Given the description of an element on the screen output the (x, y) to click on. 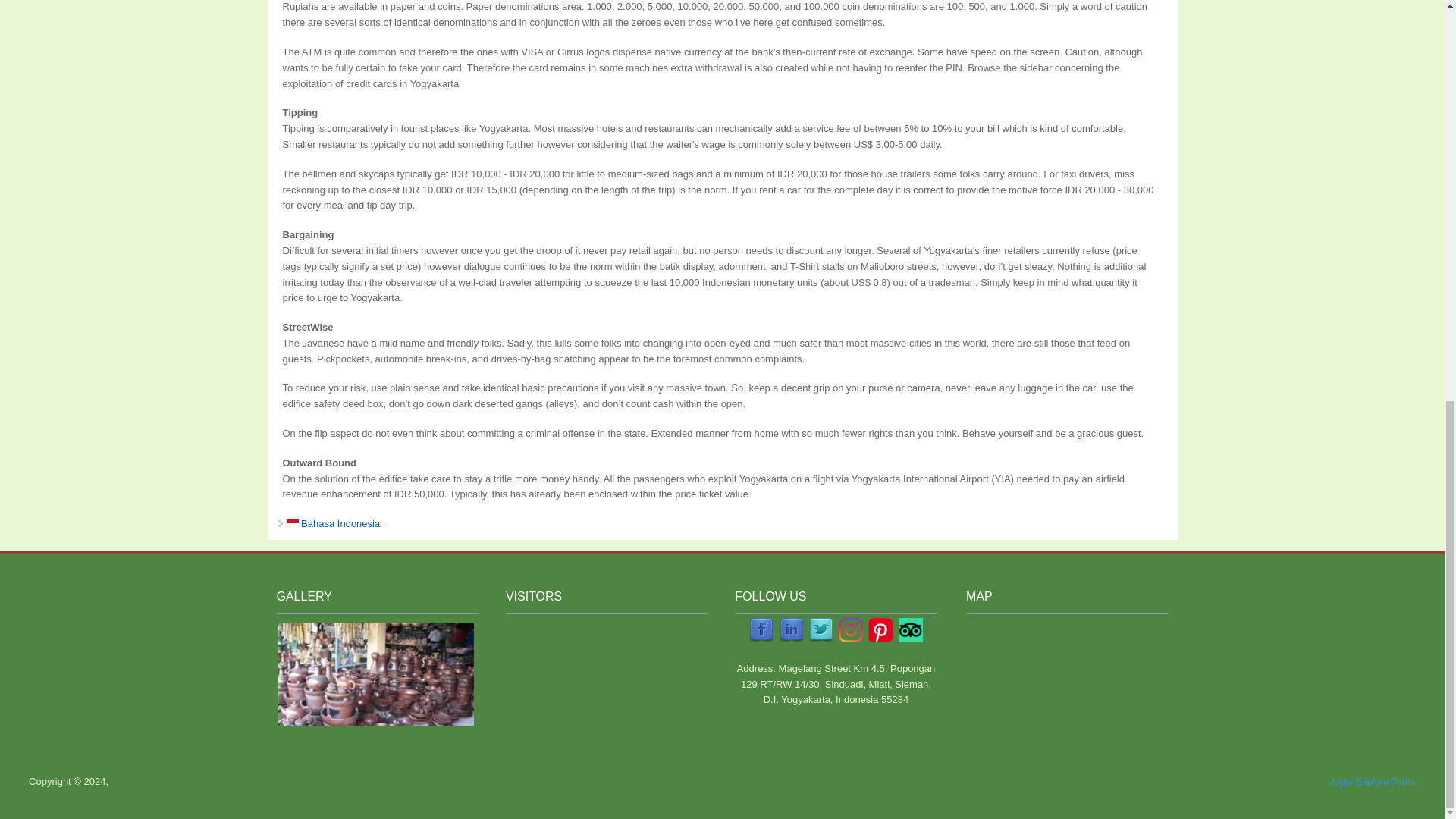
Saran Berwisata  (333, 523)
Bahasa Indonesia (292, 523)
Bahasa Indonesia (333, 523)
Jogja Explore Tours (1372, 781)
